Given the description of an element on the screen output the (x, y) to click on. 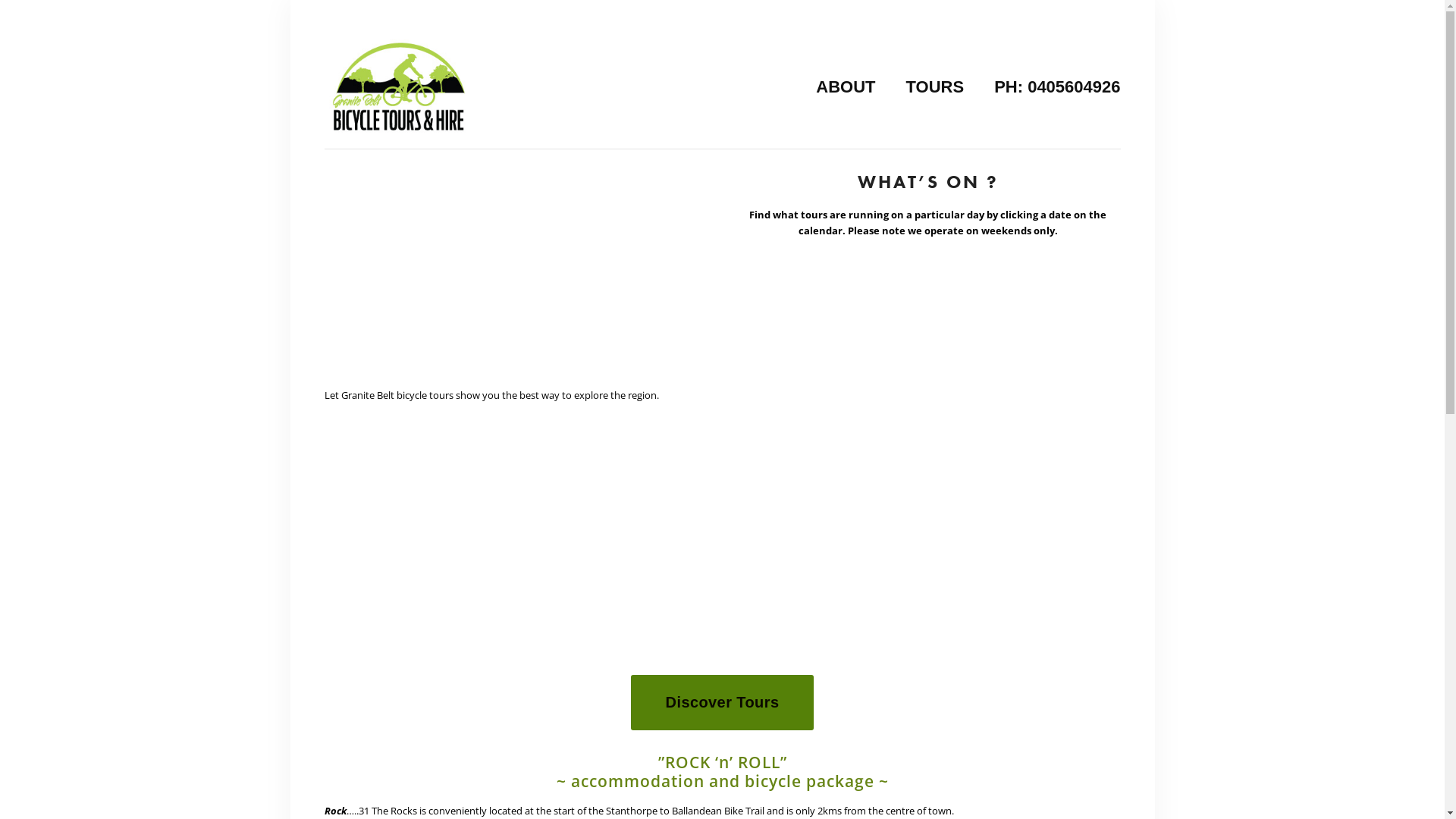
Discover Tours Element type: text (722, 702)
PH: 0405604926 Element type: text (1049, 86)
TOURS Element type: text (935, 86)
ABOUT Element type: text (845, 86)
